Given the description of an element on the screen output the (x, y) to click on. 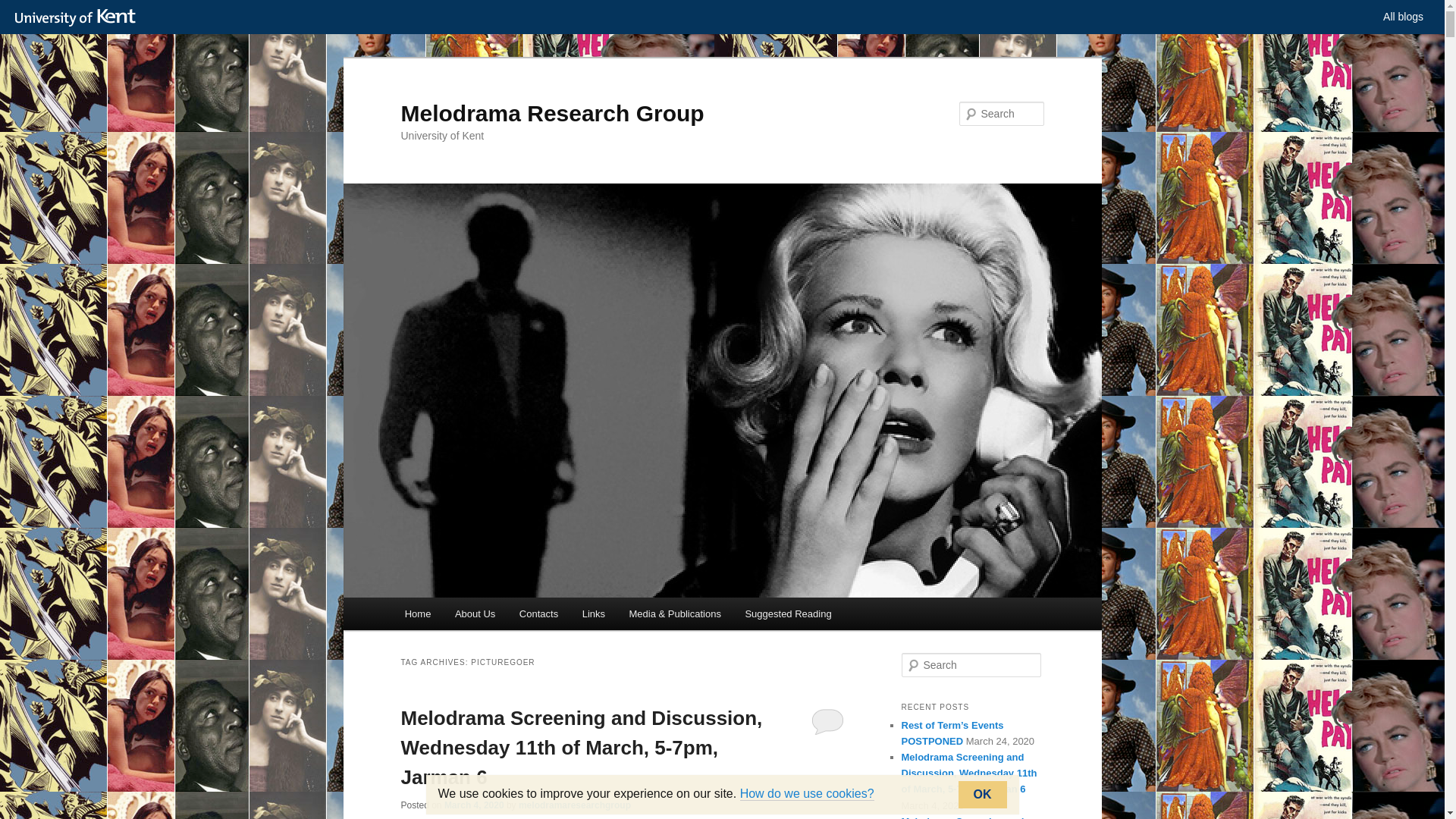
University of Kent (78, 18)
Search (24, 8)
March 4, 2020 (473, 805)
Home (417, 613)
View all posts by melodramaresearchgroup (574, 805)
OK (982, 794)
How do we use cookies? (807, 793)
Contacts (538, 613)
About Us (474, 613)
melodramaresearchgroup (574, 805)
Melodrama Research Group (551, 113)
Suggested Reading (788, 613)
11:47 am (473, 805)
University of Kent website homepage (78, 18)
Links (593, 613)
